Given the description of an element on the screen output the (x, y) to click on. 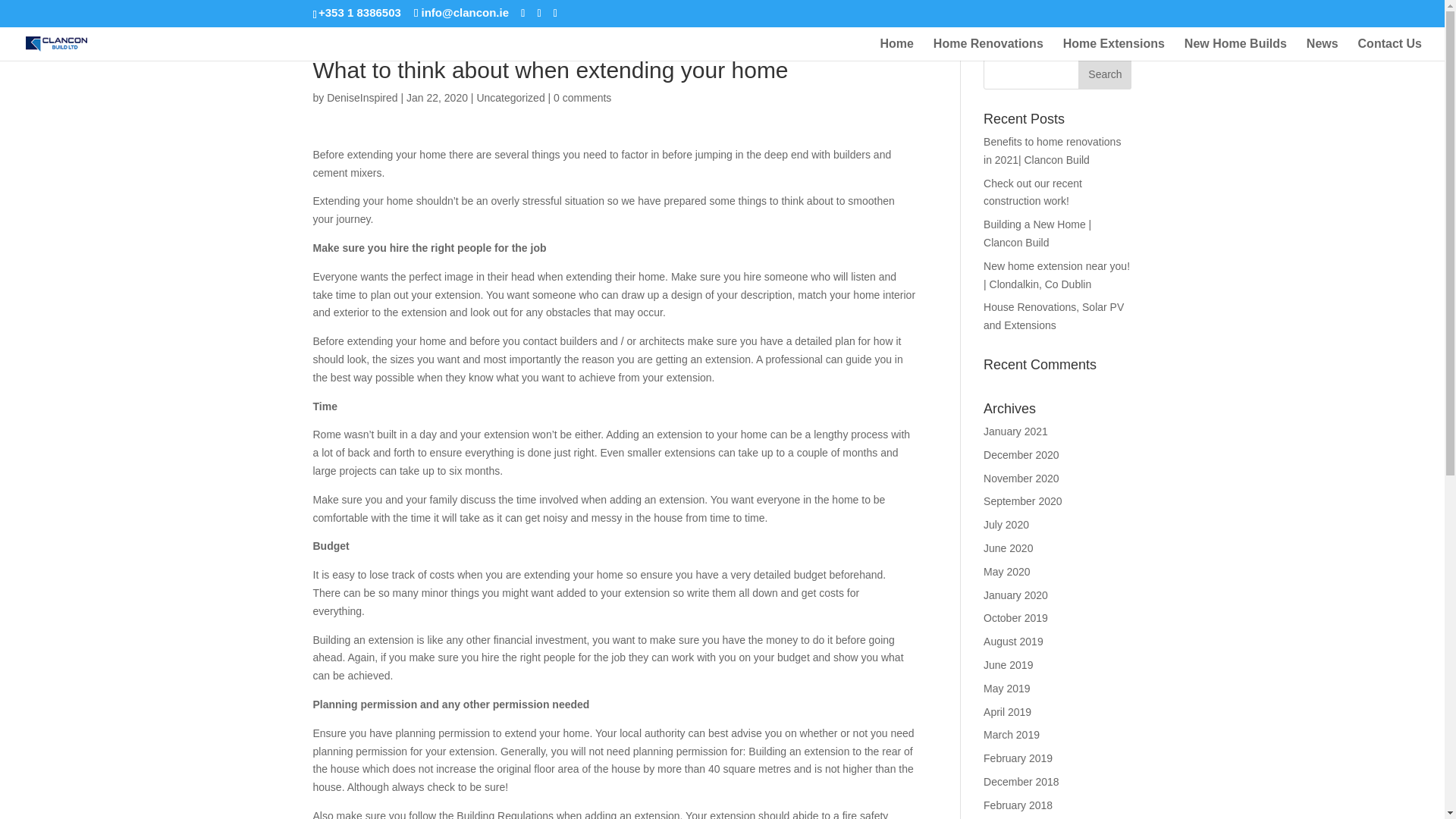
January 2020 (1016, 594)
September 2020 (1023, 500)
Home (897, 49)
May 2020 (1006, 571)
Search (1104, 73)
0 comments (582, 97)
House Renovations, Solar PV and Extensions (1054, 316)
Contact Us (1390, 49)
December 2020 (1021, 454)
Search (1104, 73)
July 2020 (1006, 524)
Home Extensions (1113, 49)
Home Renovations (988, 49)
News (1322, 49)
Posts by DeniseInspired (361, 97)
